Given the description of an element on the screen output the (x, y) to click on. 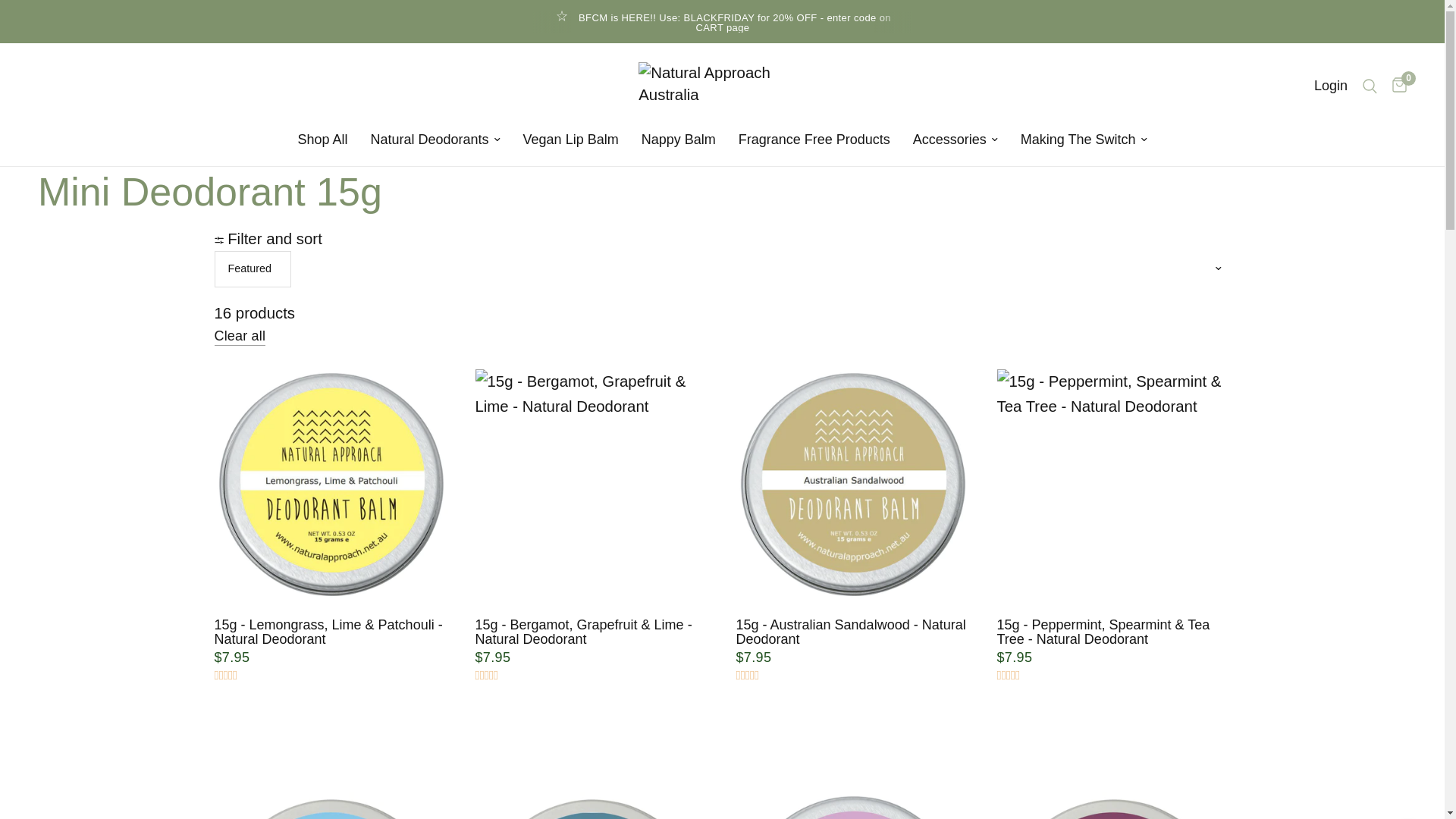
Shop All Element type: text (322, 139)
Making The Switch Element type: text (1083, 139)
15g - Lemongrass, Lime & Patchouli - Natural Deodorant Element type: hover (330, 485)
Search Element type: hover (1369, 85)
15g - Lemongrass, Lime & Patchouli - Natural Deodorant Element type: text (330, 632)
15g - Bergamot, Grapefruit & Lime - Natural Deodorant Element type: hover (591, 485)
Nappy Balm Element type: text (678, 139)
15g - Peppermint, Spearmint & Tea Tree - Natural Deodorant Element type: text (1113, 632)
Clear all Element type: text (239, 335)
15g - Australian Sandalwood - Natural Deodorant Element type: text (852, 632)
Home Element type: text (20, 101)
Shop Element type: text (71, 101)
15g - Peppermint, Spearmint & Tea Tree - Natural Deodorant Element type: hover (1113, 485)
Accessories Element type: text (955, 139)
Filter and sort Element type: text (267, 238)
0 Element type: text (1395, 85)
15g - Bergamot, Grapefruit & Lime - Natural Deodorant Element type: text (591, 632)
Vegan Lip Balm Element type: text (570, 139)
15g - Australian Sandalwood - Natural Deodorant Element type: hover (852, 485)
Fragrance Free Products Element type: text (814, 139)
Natural Deodorants Element type: text (434, 139)
Login Element type: text (1330, 85)
